Given the description of an element on the screen output the (x, y) to click on. 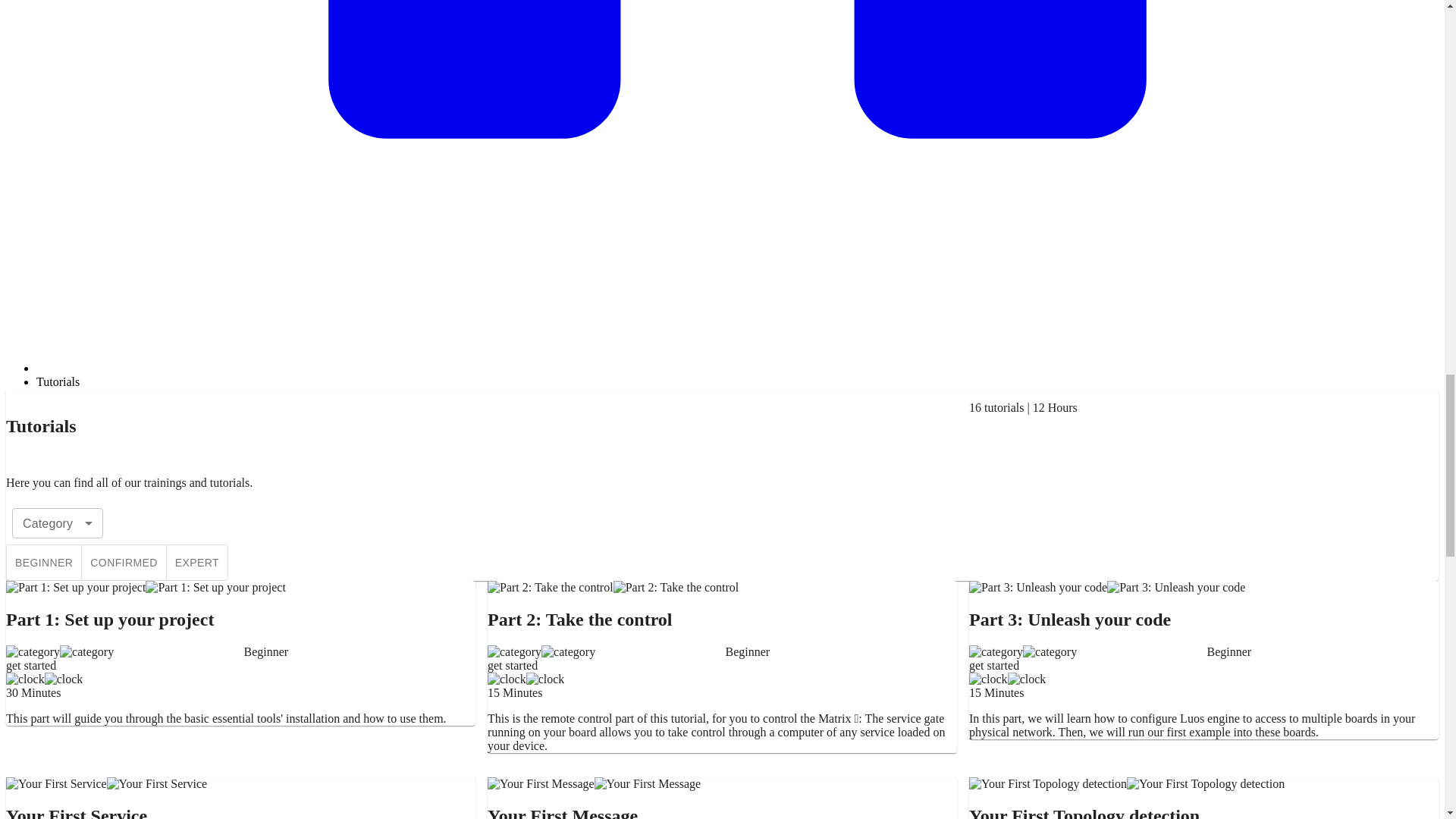
EXPERT (196, 562)
BEGINNER (43, 562)
CONFIRMED (123, 562)
